Given the description of an element on the screen output the (x, y) to click on. 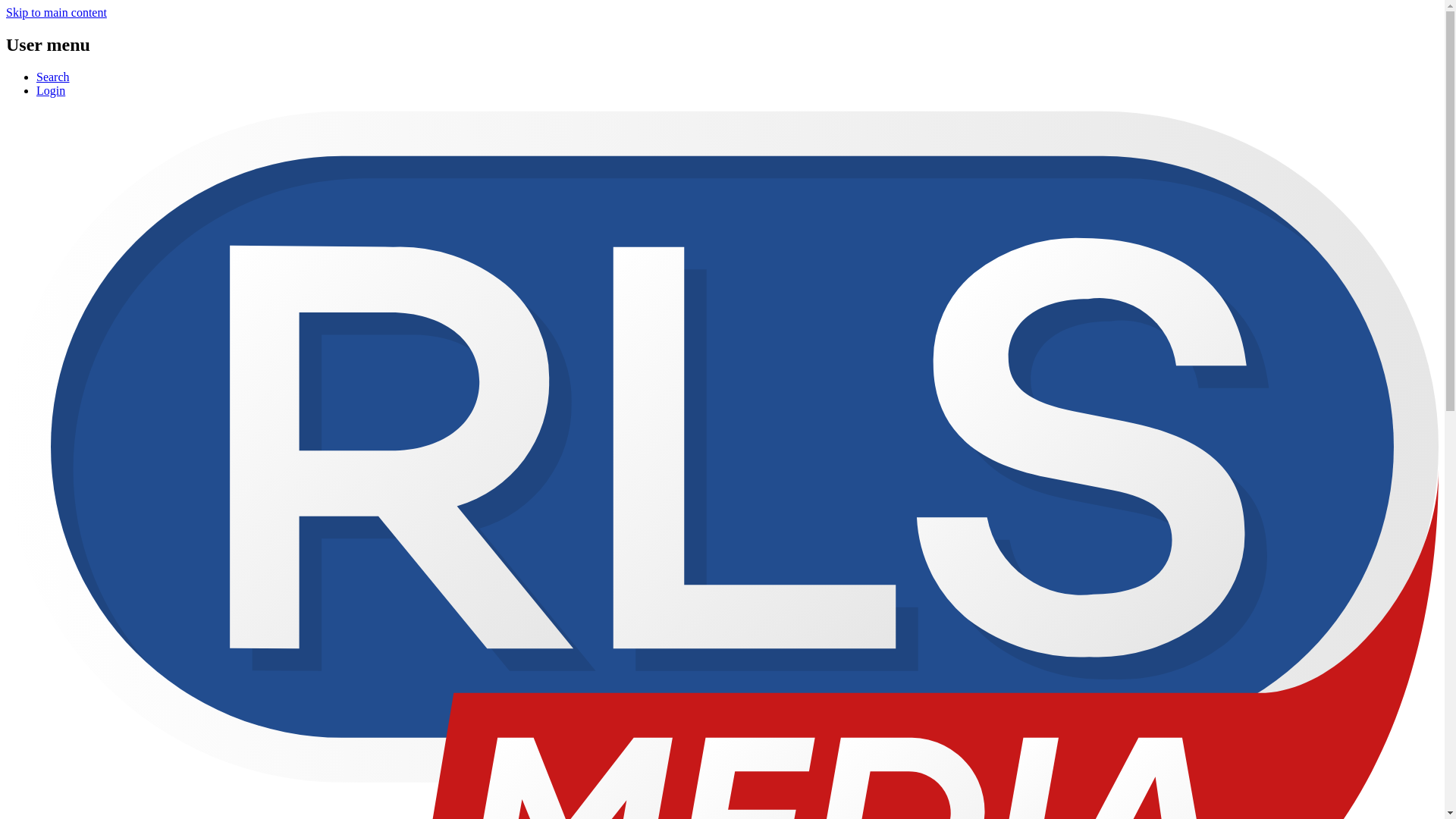
Login (50, 90)
Skip to main content (55, 11)
Search (52, 76)
